Given the description of an element on the screen output the (x, y) to click on. 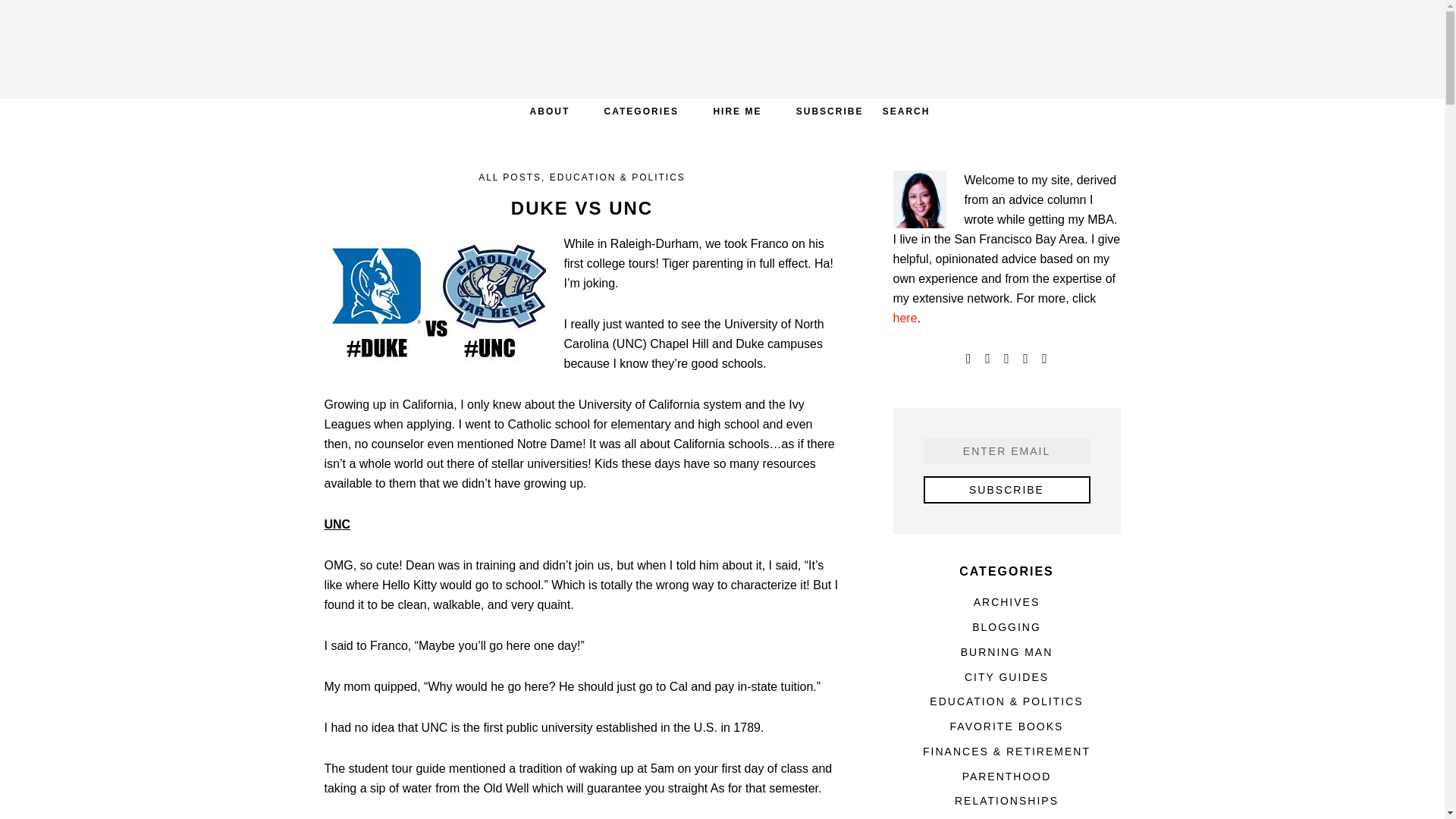
SUBSCRIBE (829, 111)
CATEGORIES (641, 111)
ALL POSTS (510, 176)
Subscribe (1006, 489)
ABOUT (550, 111)
Catherine Gacad (721, 48)
HIRE ME (736, 111)
